Given the description of an element on the screen output the (x, y) to click on. 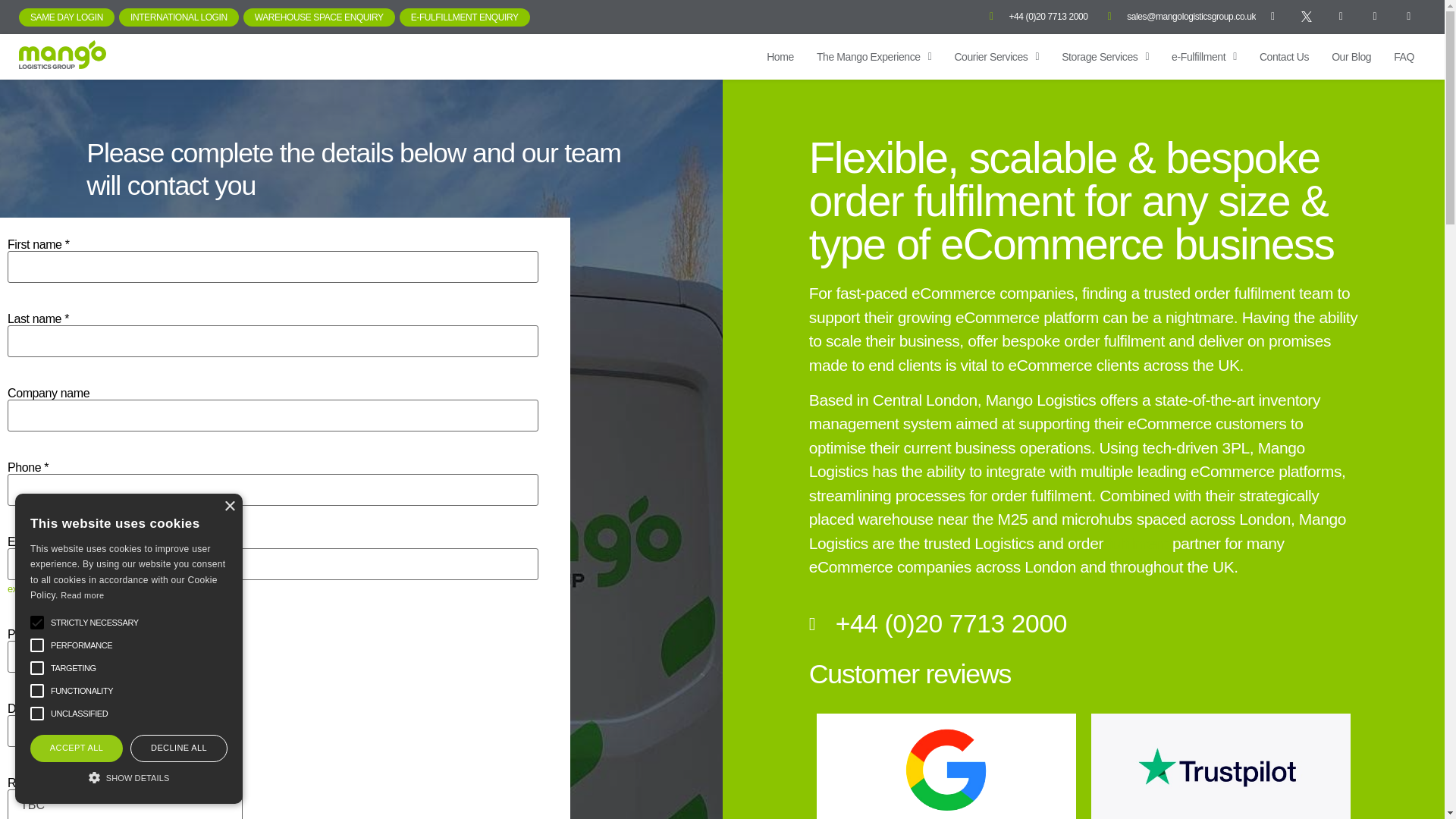
e-Fulfillment (1203, 56)
Contact Us (1283, 56)
Home (780, 56)
E-FULFILLMENT ENQUIRY (463, 17)
TBC (125, 730)
WAREHOUSE SPACE ENQUIRY (318, 17)
Storage Services (1104, 56)
FAQ (1403, 56)
SAME DAY LOGIN (66, 17)
TBC (125, 804)
The Mango Experience (873, 56)
INTERNATIONAL LOGIN (178, 17)
Courier Services (995, 56)
---- --- (125, 656)
Our Blog (1350, 56)
